Given the description of an element on the screen output the (x, y) to click on. 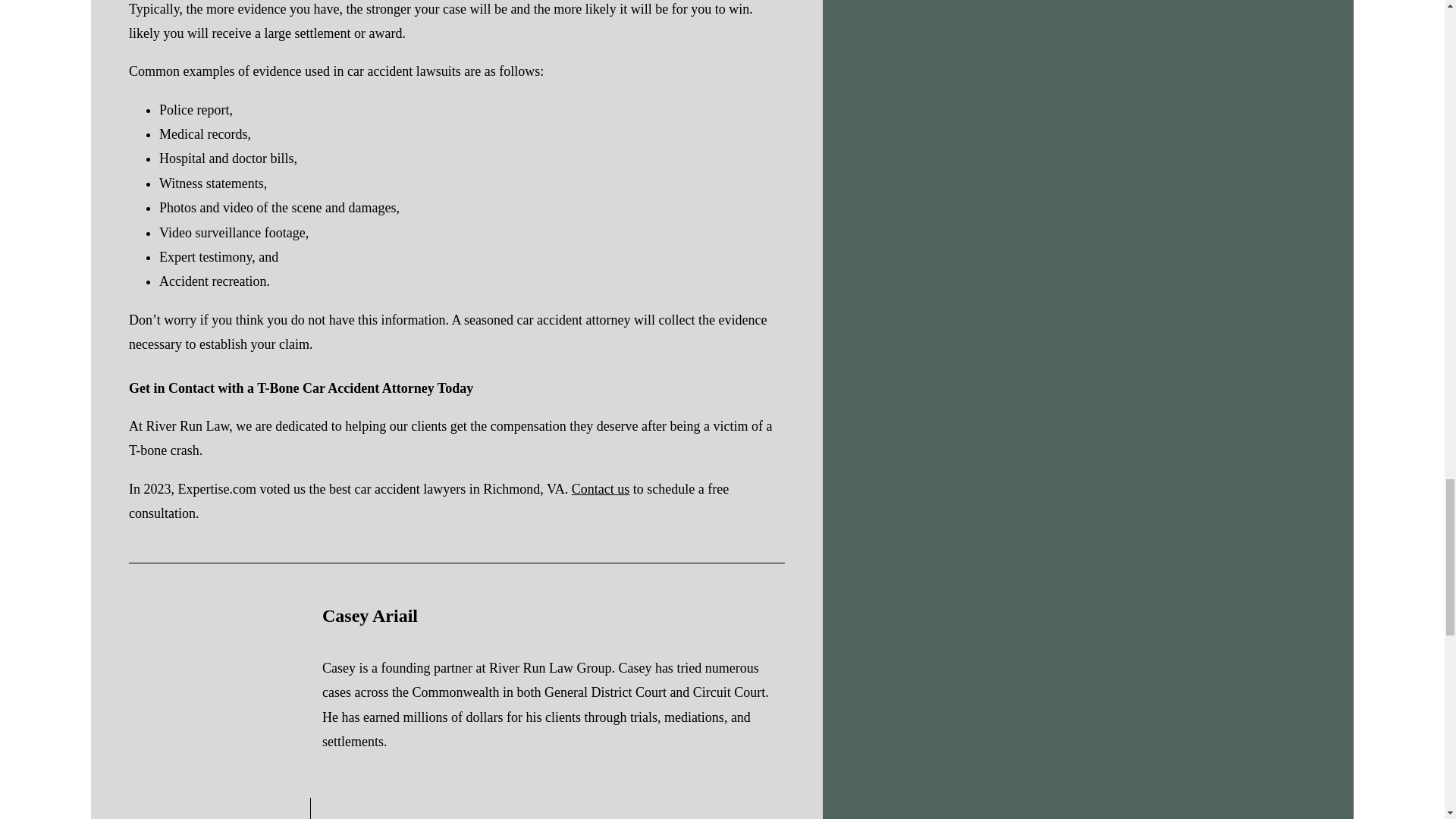
2 Stars (275, 816)
1 Star (275, 804)
